Given the description of an element on the screen output the (x, y) to click on. 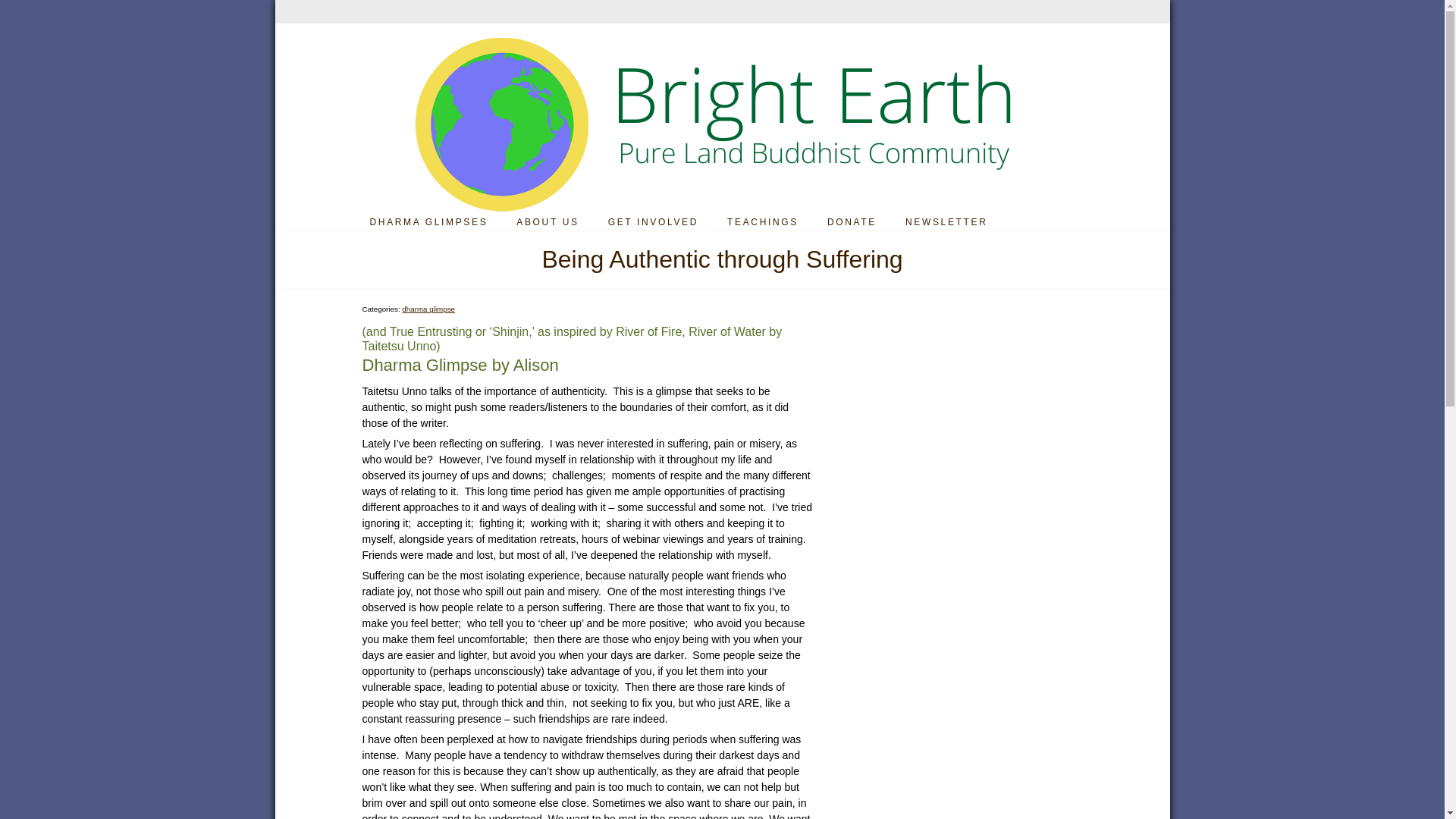
DHARMA GLIMPSES (428, 222)
GET INVOLVED (653, 222)
TEACHINGS (762, 222)
ABOUT US (547, 222)
